Given the description of an element on the screen output the (x, y) to click on. 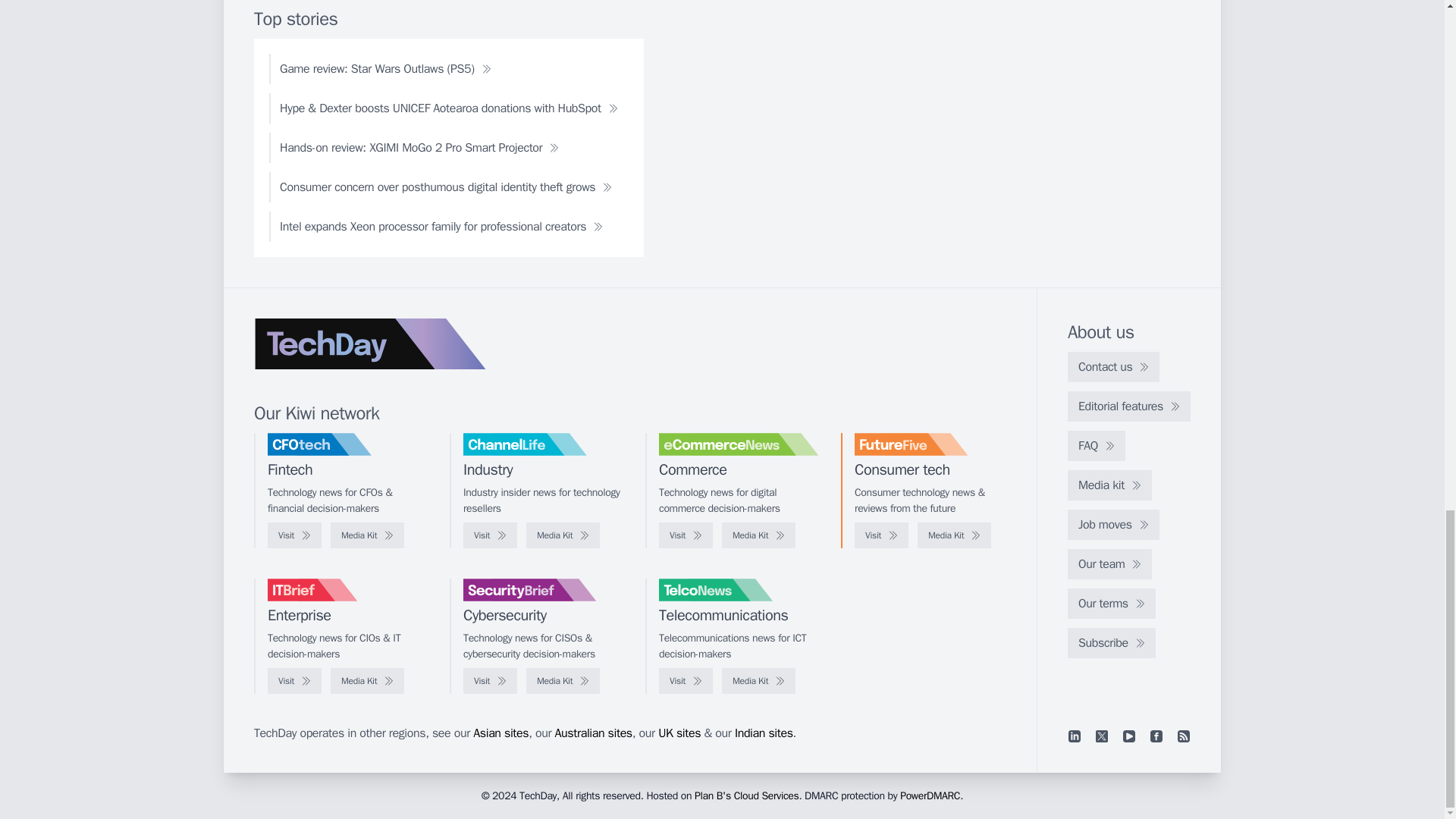
Visit (686, 534)
Visit (294, 534)
Visit (881, 534)
Media Kit (562, 534)
Media Kit (758, 534)
Media Kit (954, 534)
Media Kit (367, 534)
Visit (489, 534)
